Given the description of an element on the screen output the (x, y) to click on. 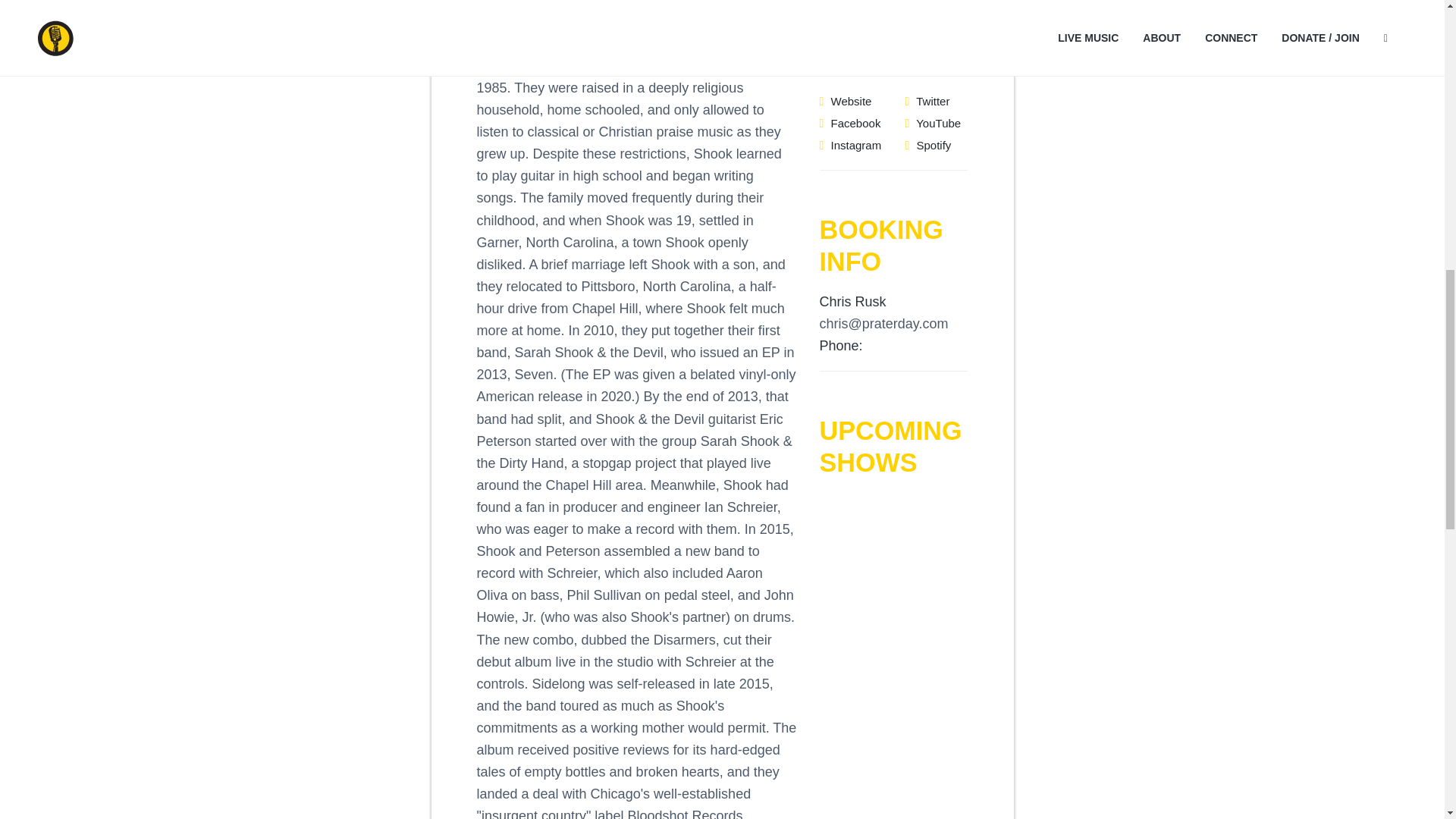
Website (844, 101)
YouTube (932, 123)
Twitter (926, 101)
Instagram (849, 144)
Facebook (849, 123)
Spotify (927, 144)
